Given the description of an element on the screen output the (x, y) to click on. 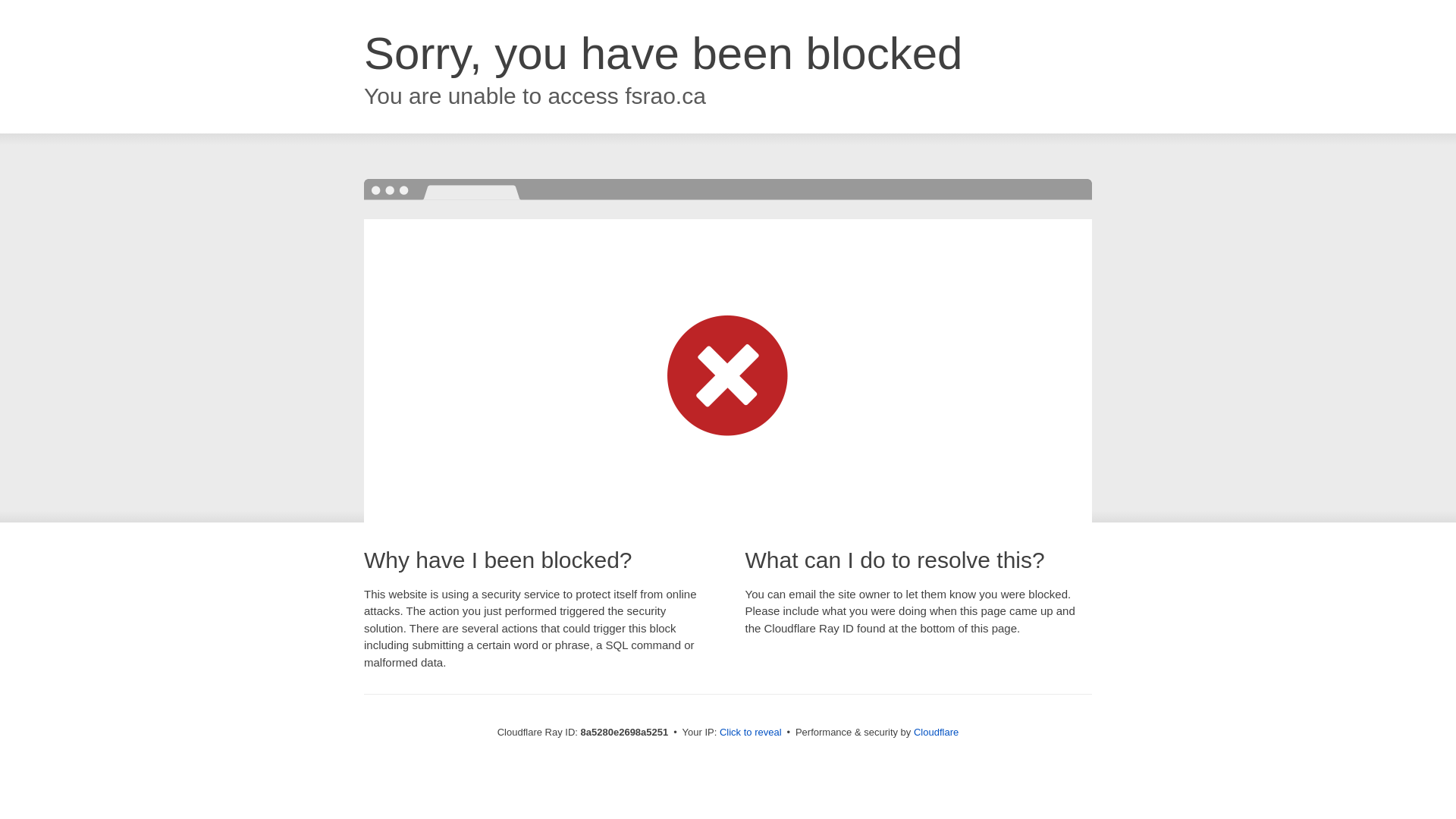
Click to reveal (750, 732)
Cloudflare (936, 731)
